Given the description of an element on the screen output the (x, y) to click on. 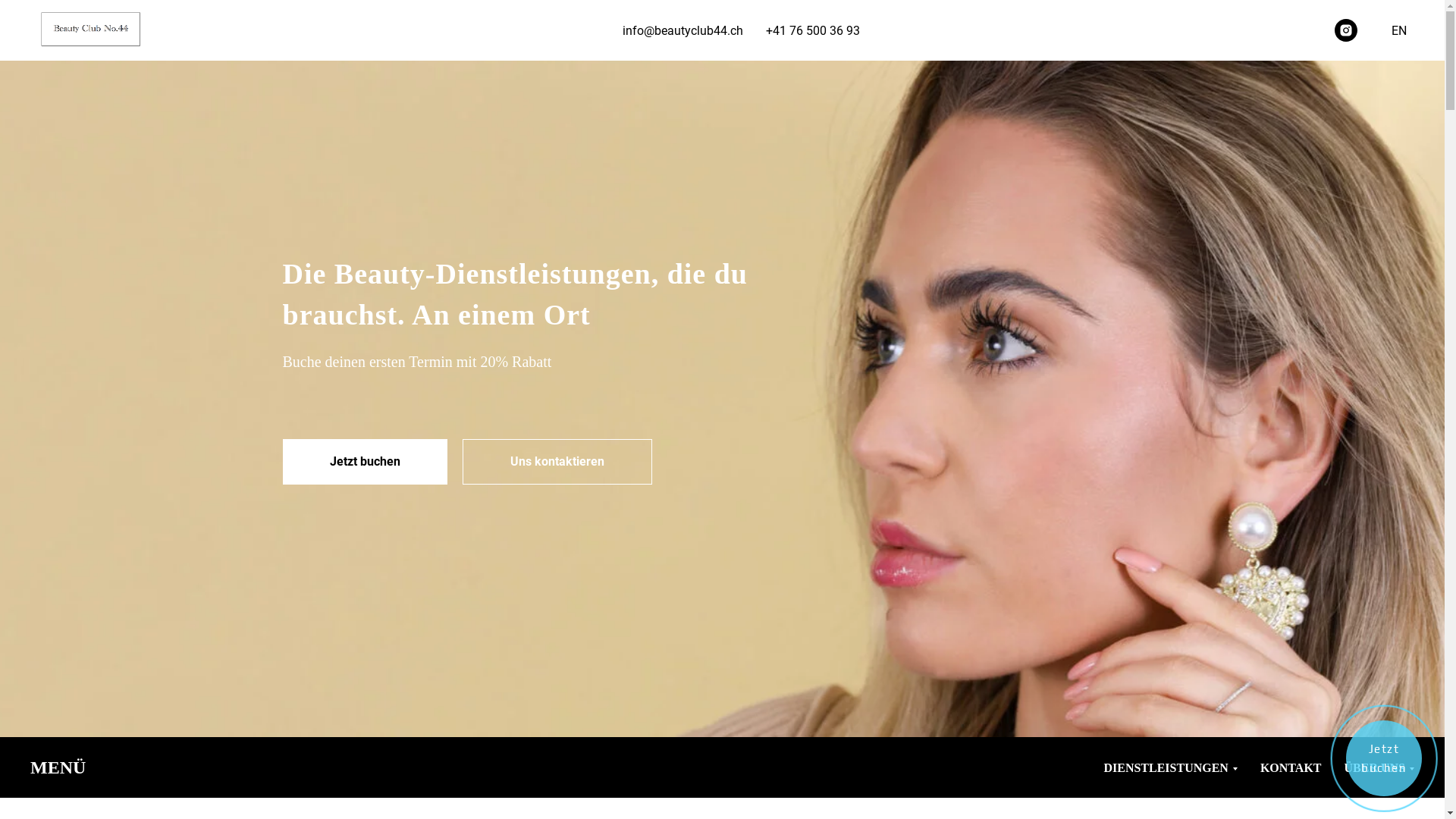
KONTAKT Element type: text (1290, 767)
Jetzt buchen Element type: text (1383, 758)
Uns kontaktieren Element type: text (557, 460)
EN Element type: text (1398, 29)
Jetzt buchen Element type: text (364, 460)
DIENSTLEISTUNGEN Element type: text (1170, 767)
info@beautyclub44.ch Element type: text (682, 29)
+41 76 500 36 93 Element type: text (812, 29)
